Given the description of an element on the screen output the (x, y) to click on. 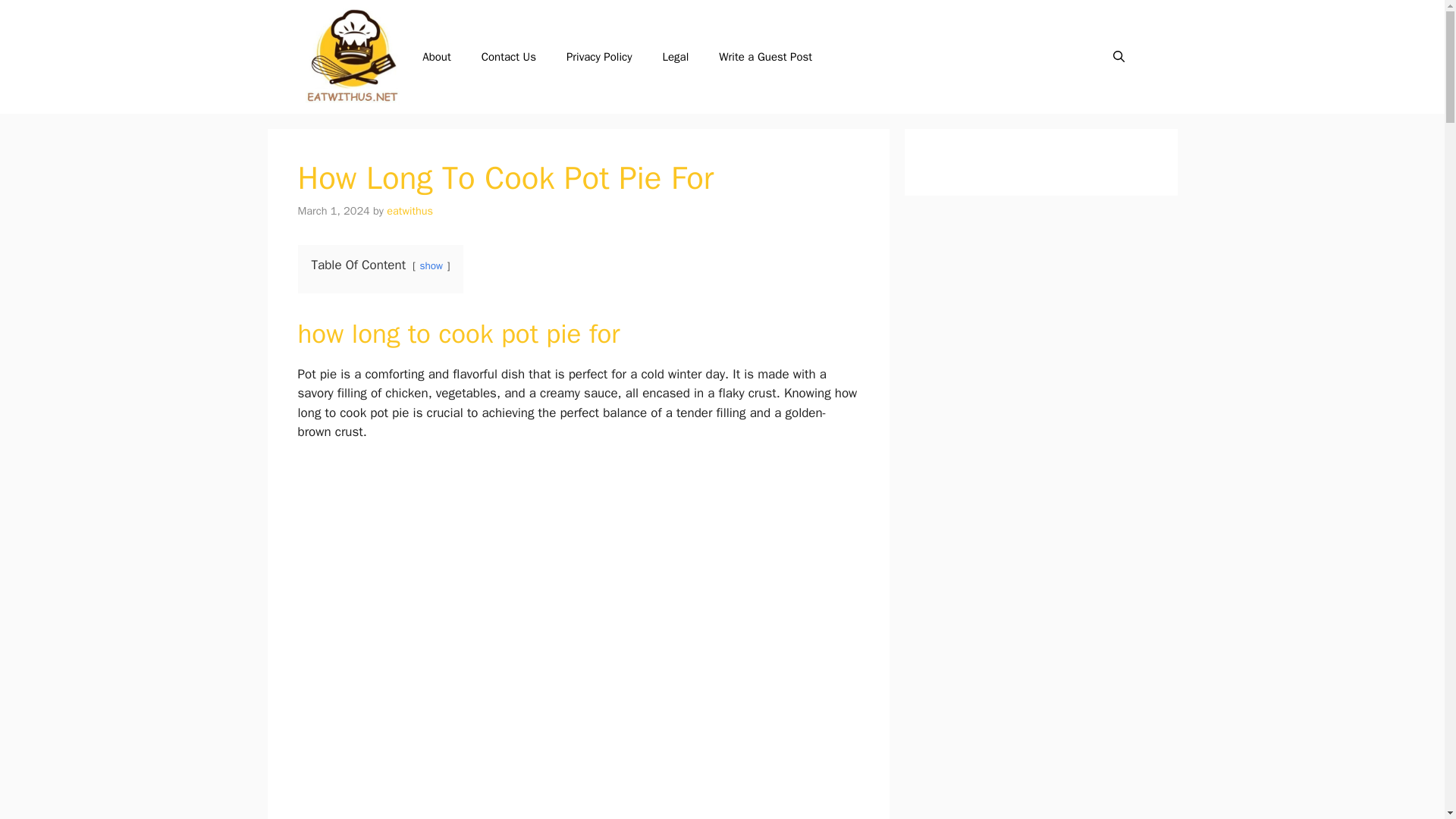
eatwithus (409, 210)
show (430, 265)
Privacy Policy (599, 56)
About (436, 56)
Write a Guest Post (765, 56)
Legal (675, 56)
View all posts by eatwithus (409, 210)
Contact Us (508, 56)
